Given the description of an element on the screen output the (x, y) to click on. 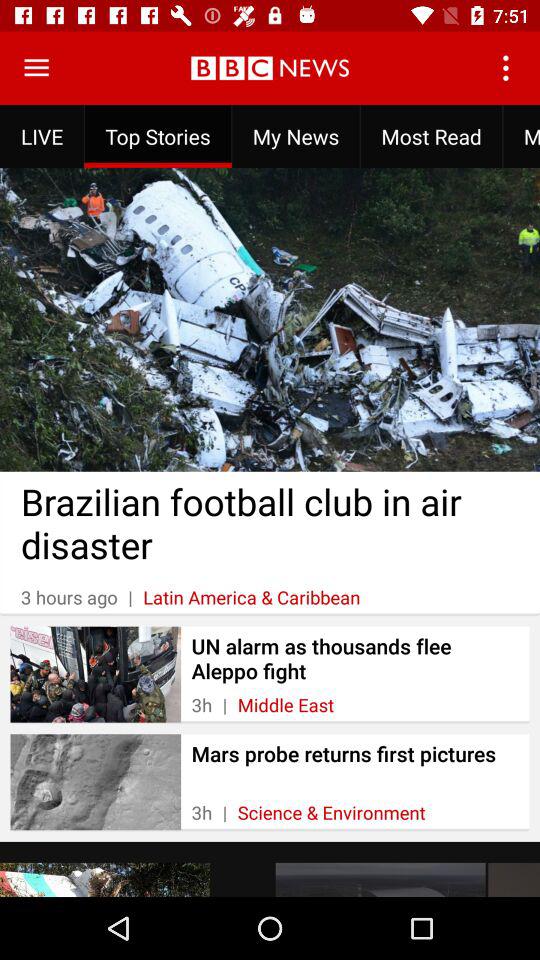
click the icon next to most read item (521, 136)
